Given the description of an element on the screen output the (x, y) to click on. 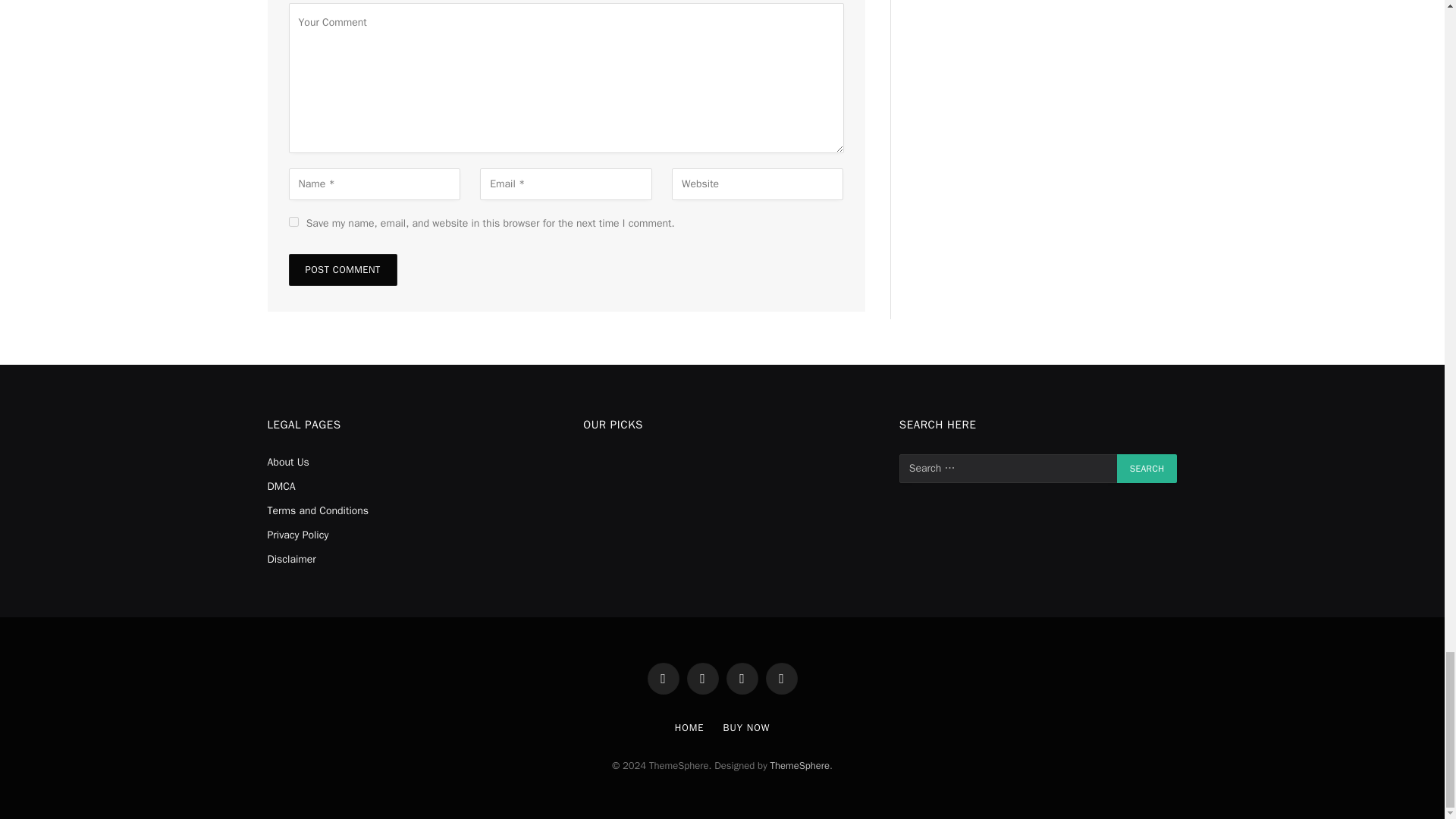
Post Comment (342, 269)
yes (293, 221)
Search (1146, 468)
Search (1146, 468)
